Given the description of an element on the screen output the (x, y) to click on. 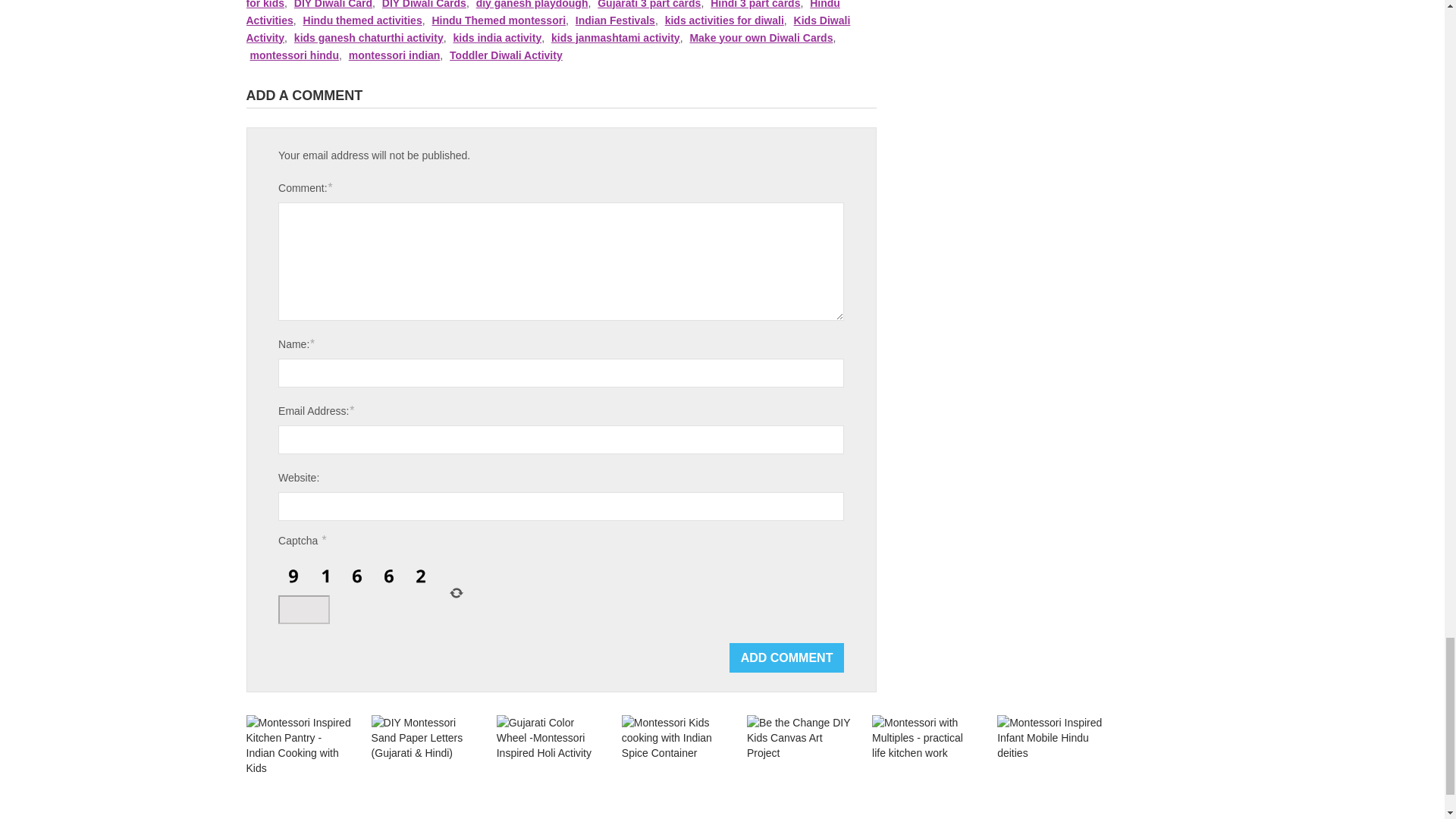
DIY Diwali Card (333, 4)
Add Comment (786, 657)
DIY Diwali Cards (423, 4)
Diwali crafts for kids (561, 4)
